Given the description of an element on the screen output the (x, y) to click on. 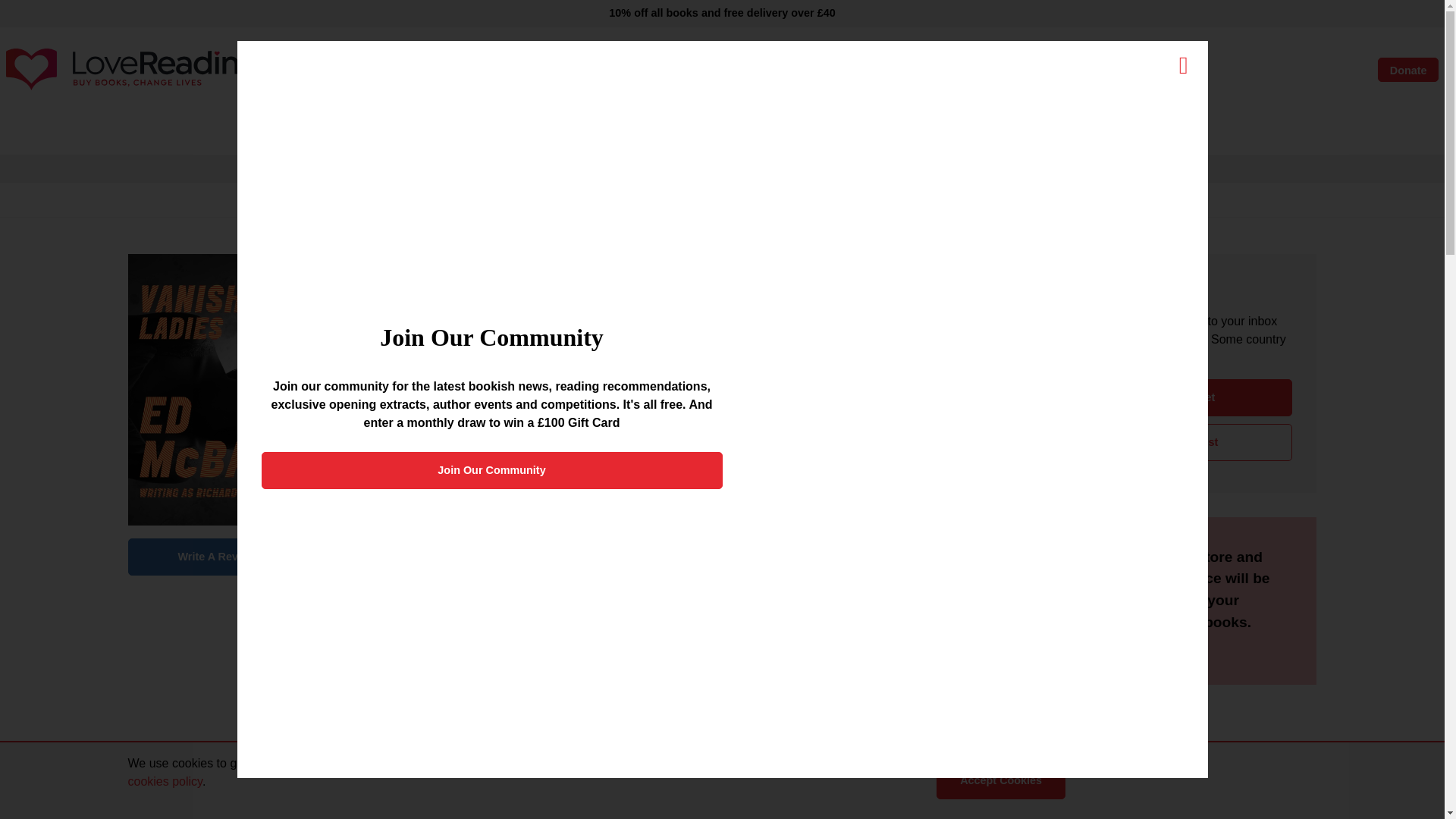
New (449, 133)
Non-Fiction (577, 133)
Search Now (860, 69)
Fiction (504, 133)
Donate (1407, 69)
Add To Basket (1176, 397)
Heart (1278, 69)
